Given the description of an element on the screen output the (x, y) to click on. 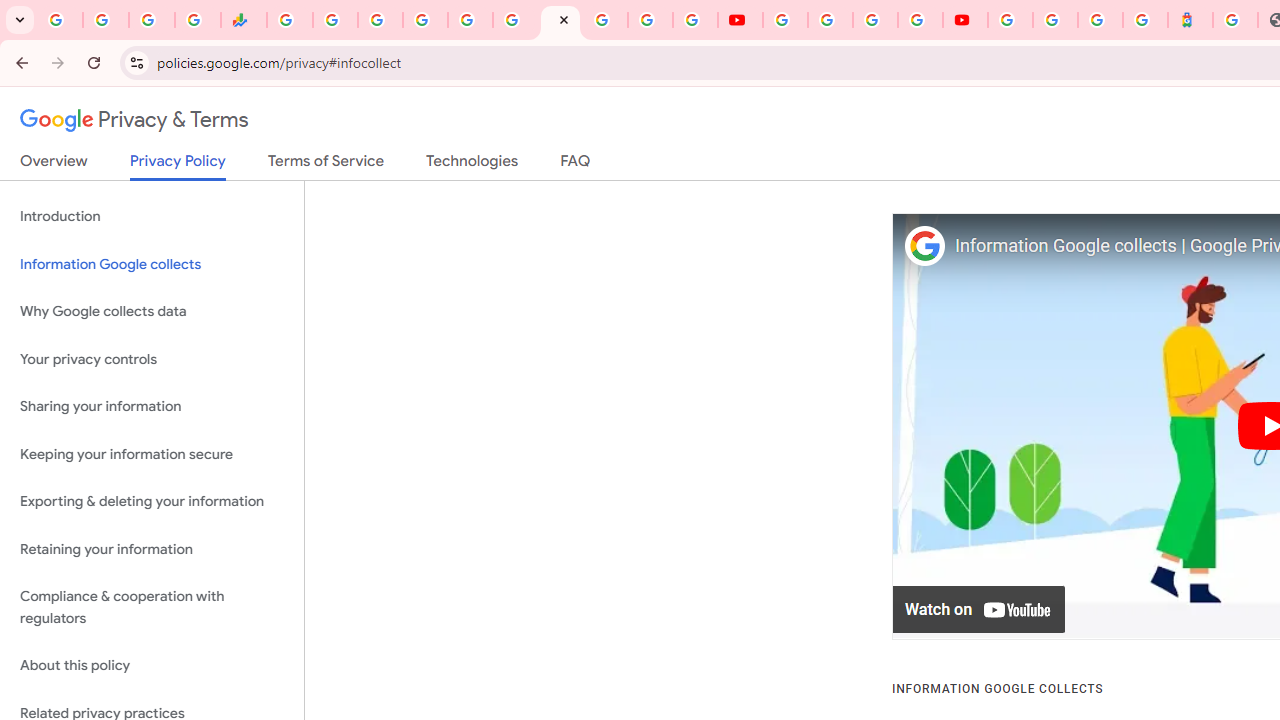
Sign in - Google Accounts (1055, 20)
Keeping your information secure (152, 453)
Sign in - Google Accounts (1010, 20)
About this policy (152, 666)
Content Creator Programs & Opportunities - YouTube Creators (965, 20)
Why Google collects data (152, 312)
Watch on YouTube (979, 610)
Privacy & Terms (134, 120)
Photo image of Google (924, 246)
Compliance & cooperation with regulators (152, 607)
